Given the description of an element on the screen output the (x, y) to click on. 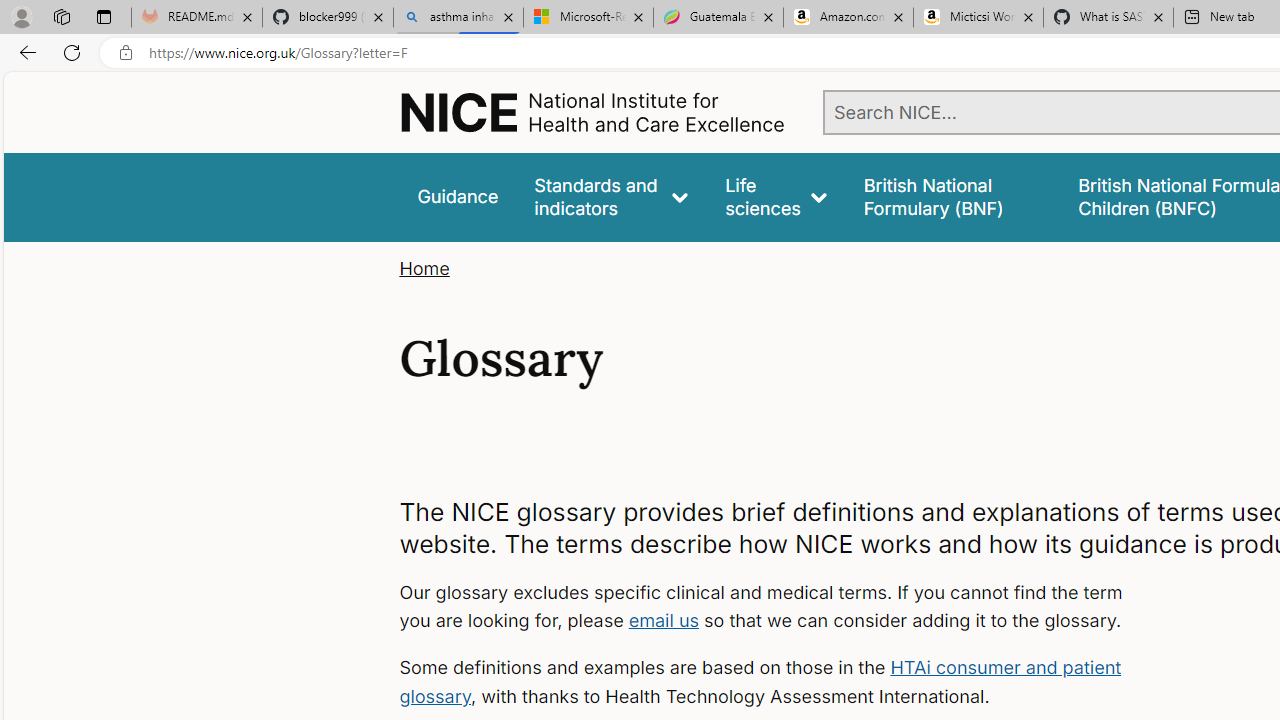
email us (664, 620)
